Given the description of an element on the screen output the (x, y) to click on. 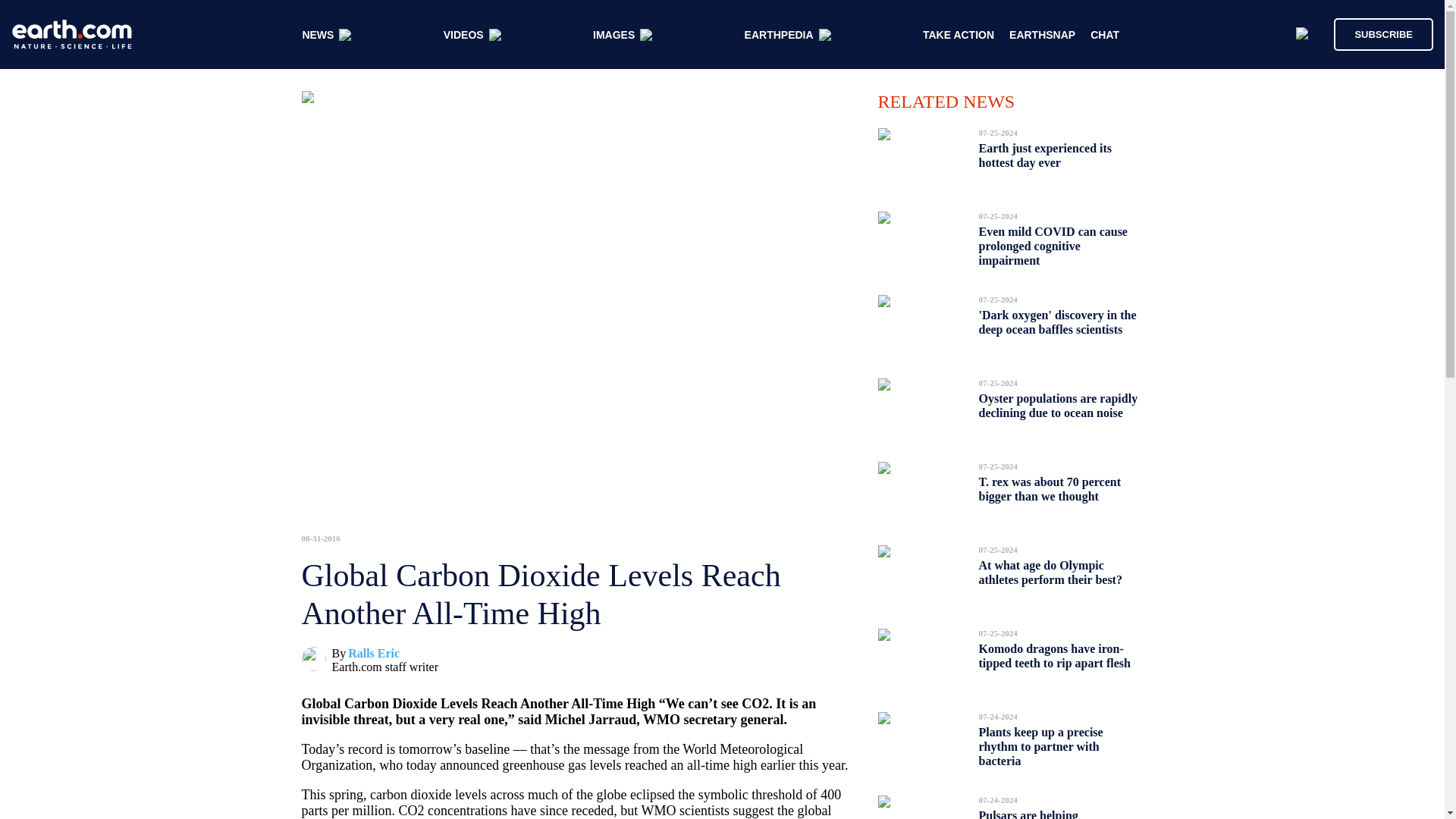
TAKE ACTION (958, 34)
'Dark oxygen' discovery in the deep ocean baffles scientists (1056, 322)
SUBSCRIBE (1375, 33)
Ralls Eric (372, 653)
Earth just experienced its hottest day ever (1045, 155)
EARTHSNAP (1042, 34)
Oyster populations are rapidly declining due to ocean noise (1057, 405)
SUBSCRIBE (1382, 34)
Even mild COVID can cause prolonged cognitive impairment (1052, 245)
Pulsars are helping astronomers pinpoint dark matter (1048, 810)
CHAT (1104, 34)
Plants keep up a precise rhythm to partner with bacteria (1040, 746)
T. rex was about 70 percent bigger than we thought (1049, 488)
Komodo dragons have iron-tipped teeth to rip apart flesh (1053, 655)
At what age do Olympic athletes perform their best? (1049, 572)
